Given the description of an element on the screen output the (x, y) to click on. 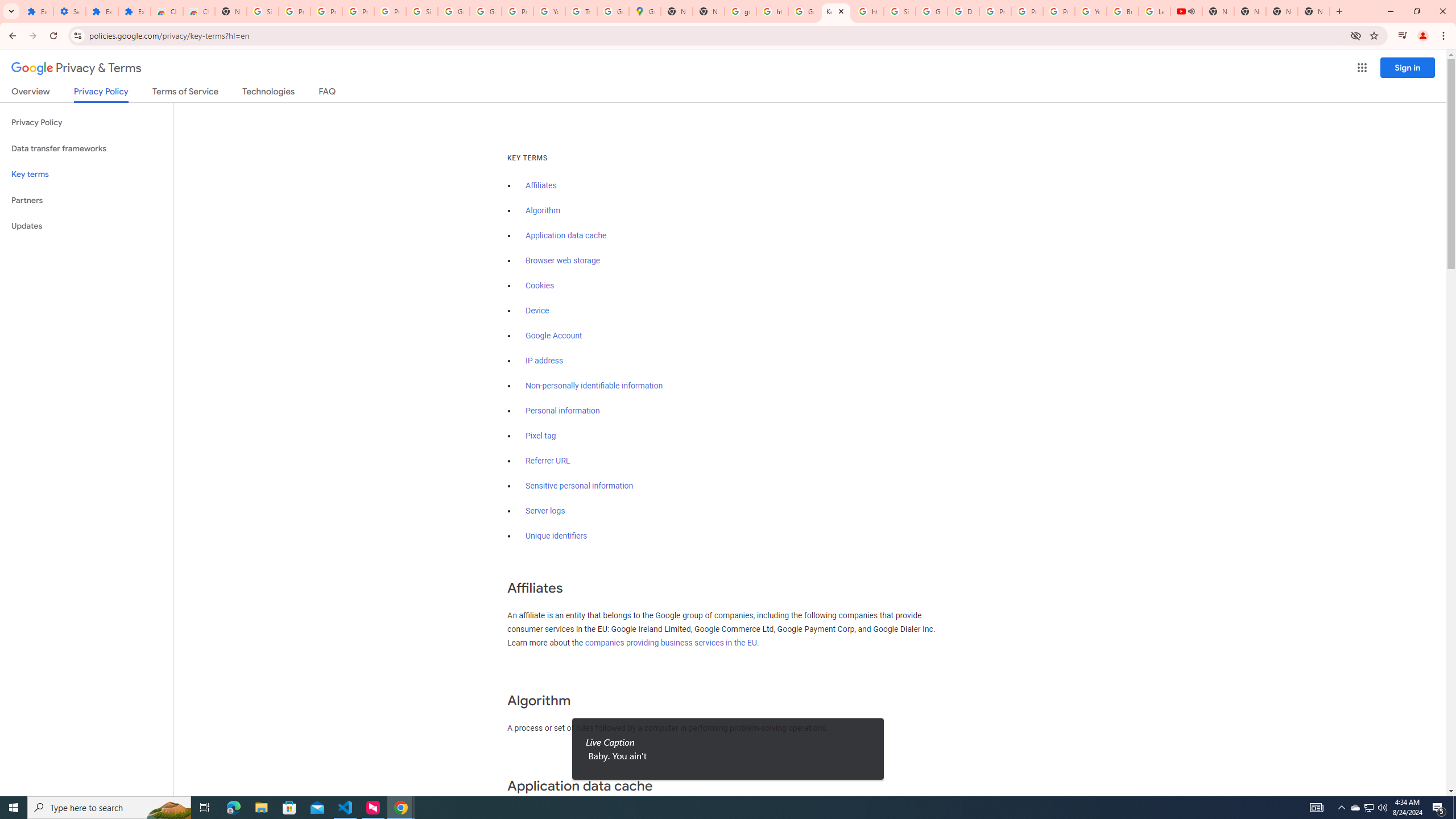
Privacy Help Center - Policies Help (995, 11)
